Given the description of an element on the screen output the (x, y) to click on. 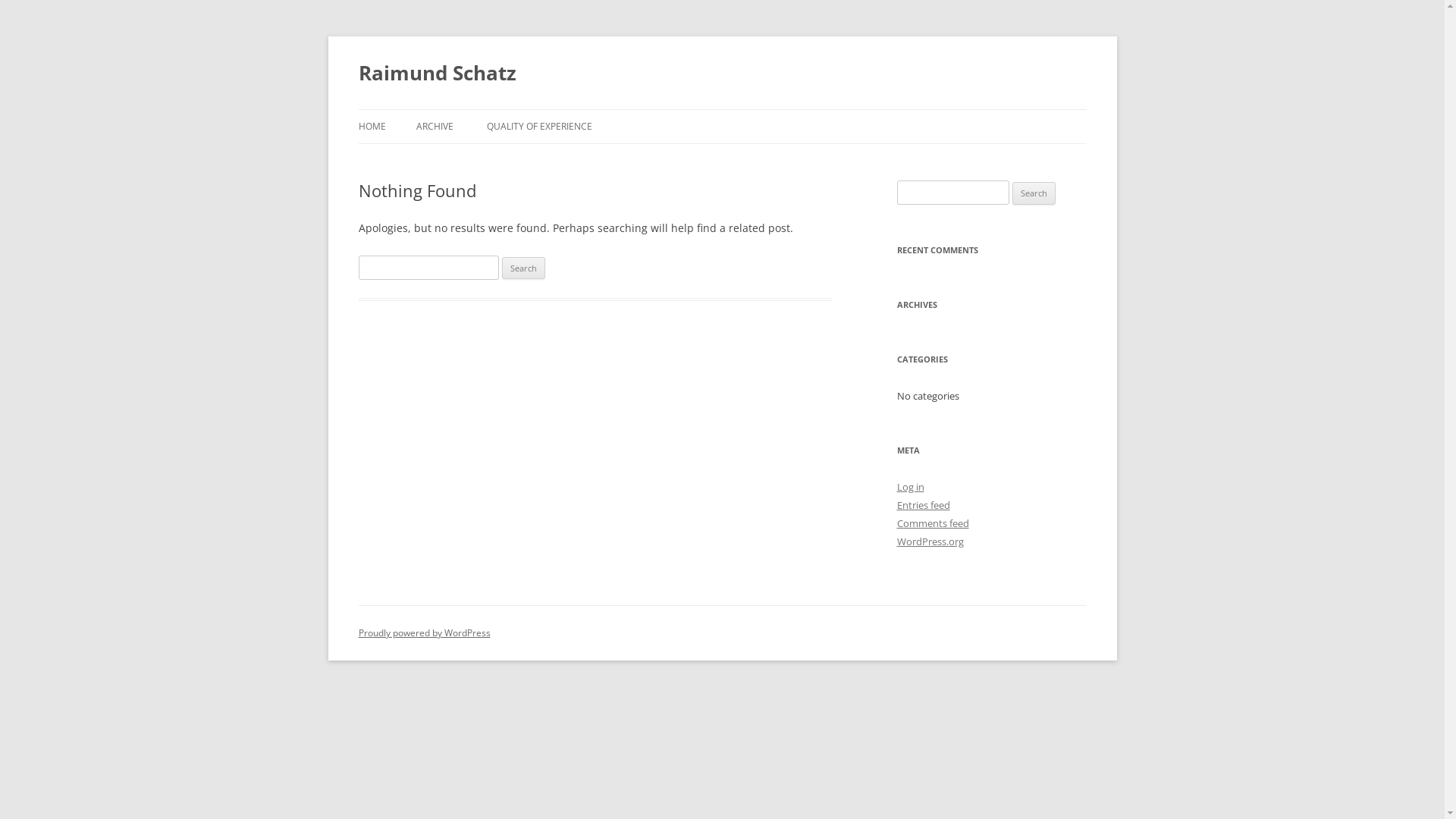
WordPress.org Element type: text (929, 541)
Proudly powered by WordPress Element type: text (423, 632)
HOME Element type: text (371, 126)
Log in Element type: text (909, 486)
Raimund Schatz Element type: text (436, 72)
Entries feed Element type: text (922, 504)
QUALITY OF EXPERIENCE Element type: text (539, 126)
Search Element type: text (523, 268)
Skip to content Element type: text (721, 109)
Search Element type: text (1033, 193)
Comments feed Element type: text (932, 523)
ARCHIVE Element type: text (433, 126)
